Given the description of an element on the screen output the (x, y) to click on. 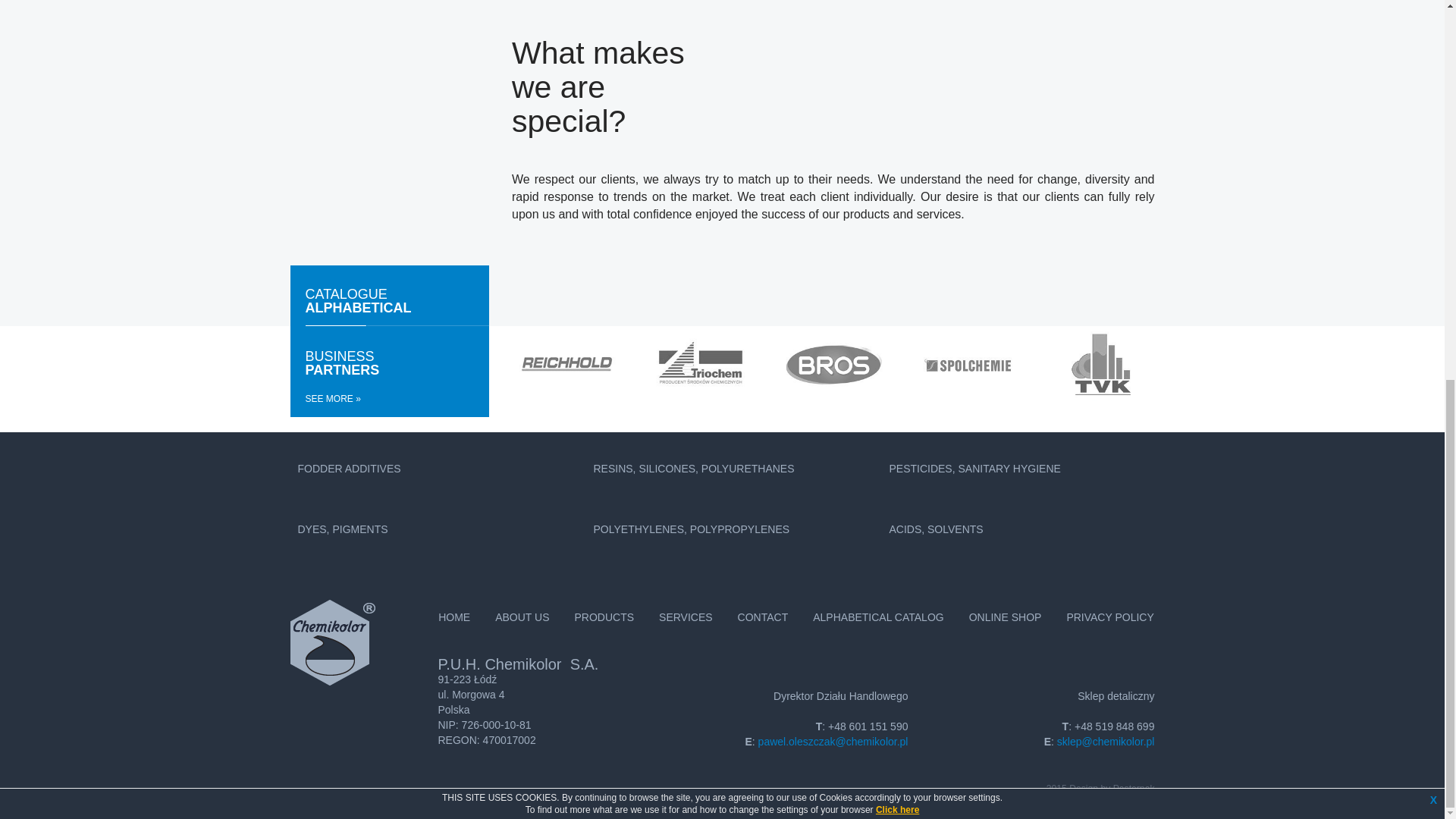
Online Shop (1005, 617)
About Us (521, 617)
Services (686, 617)
Alphabetical Catalog (877, 617)
Main Page (357, 300)
Products (454, 617)
Address Details (603, 617)
Privacy Policy (763, 617)
